Given the description of an element on the screen output the (x, y) to click on. 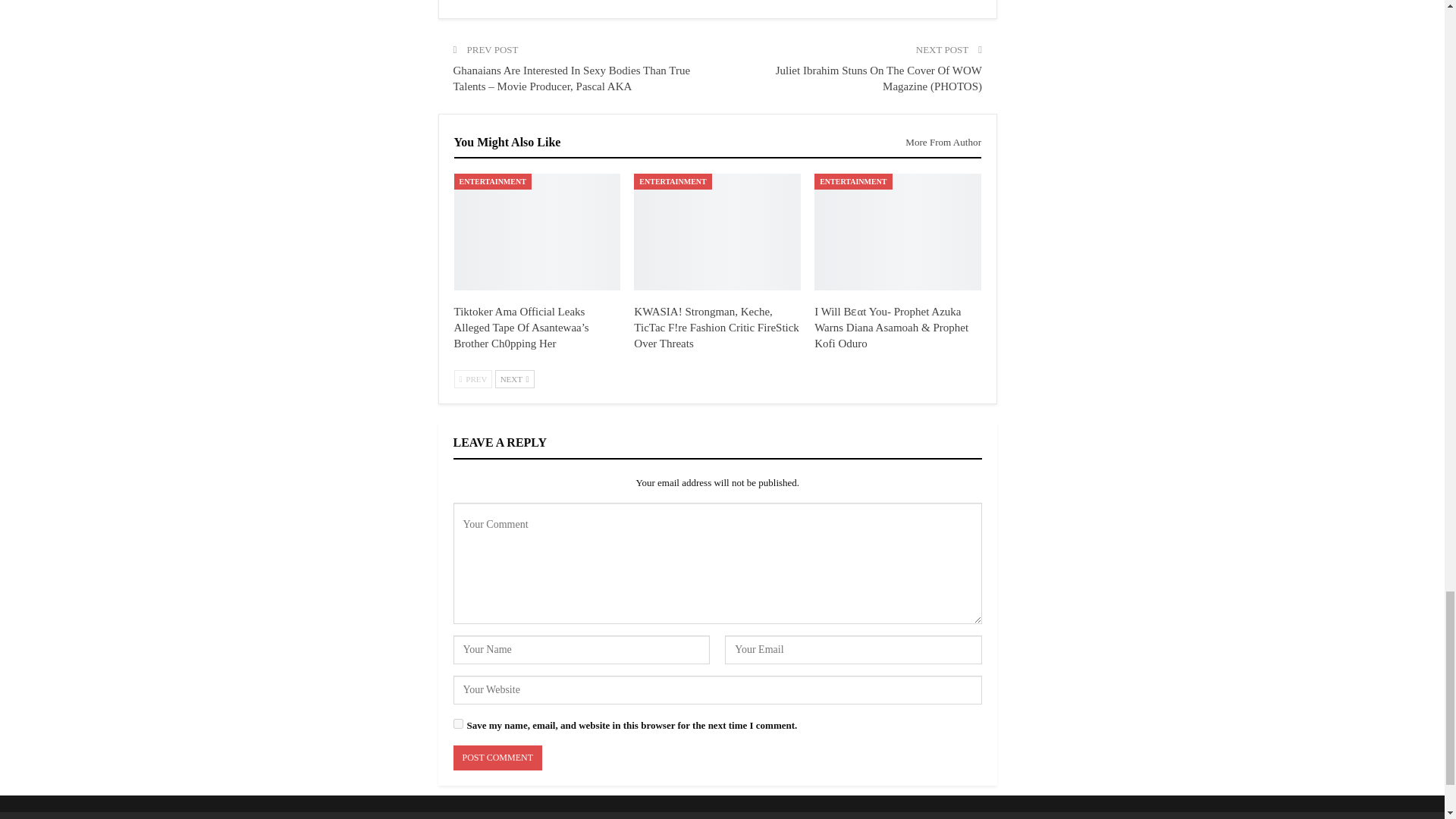
yes (457, 723)
Post Comment (496, 757)
